Given the description of an element on the screen output the (x, y) to click on. 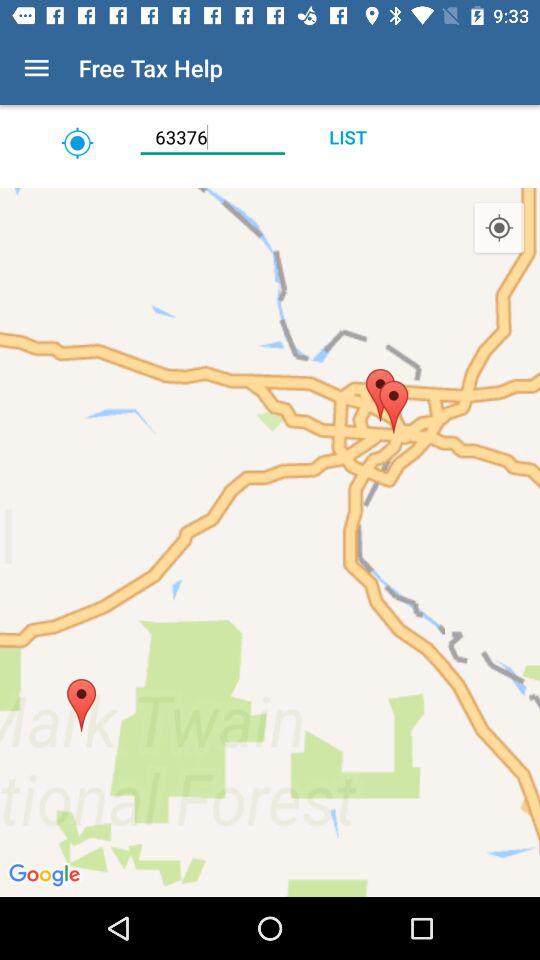
open the item next to the list icon (212, 137)
